Given the description of an element on the screen output the (x, y) to click on. 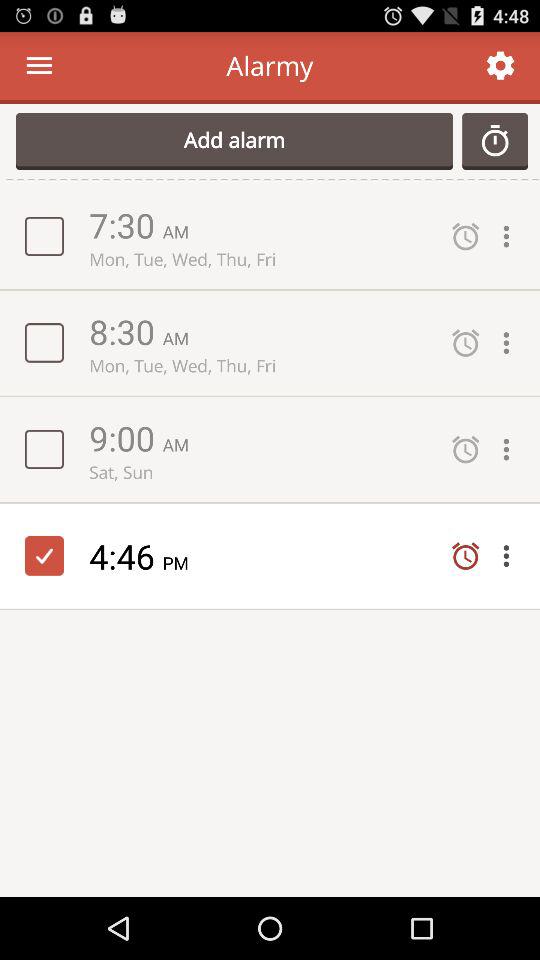
flip to the pm icon (181, 562)
